Given the description of an element on the screen output the (x, y) to click on. 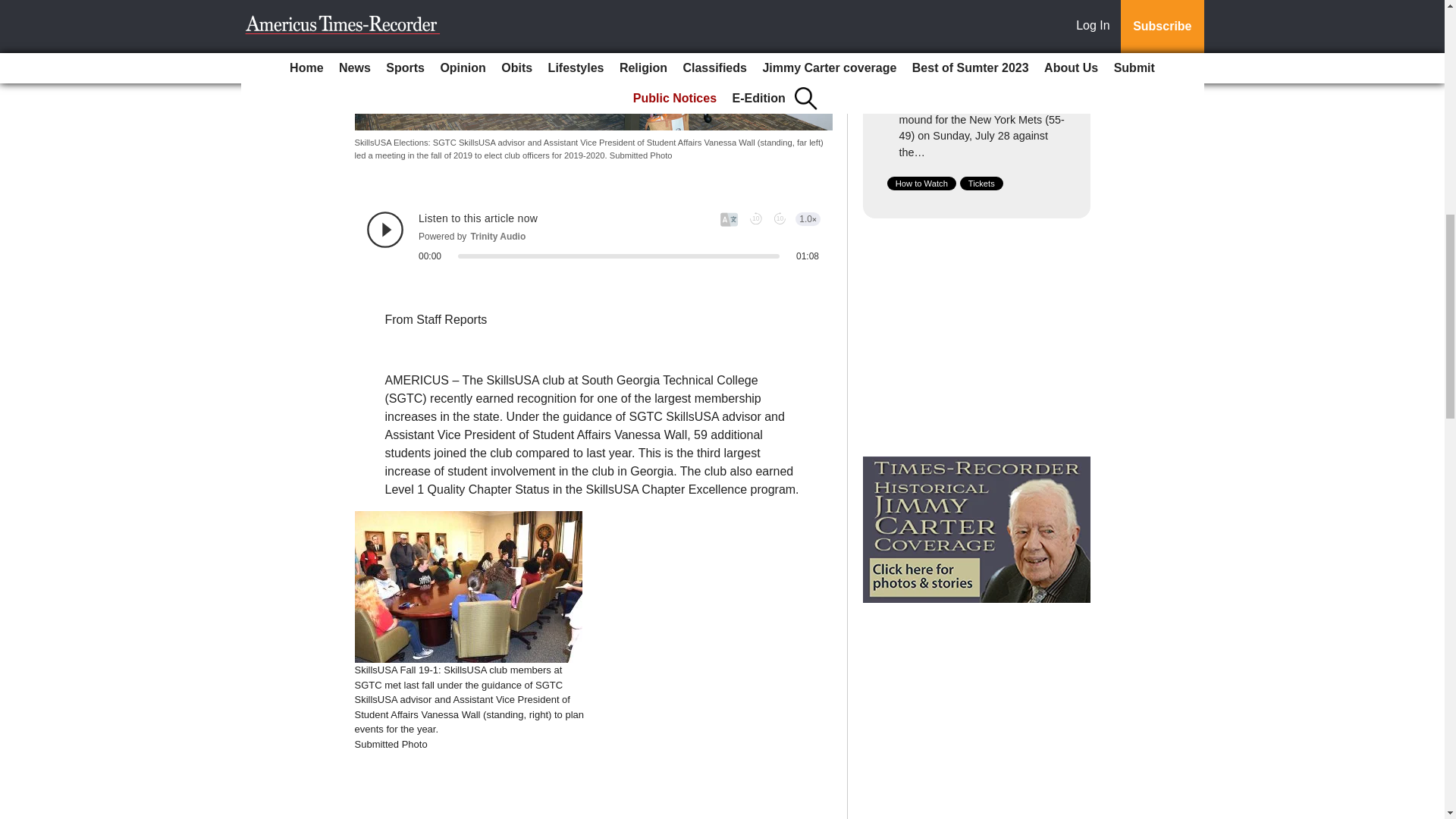
How to Watch (921, 183)
Braves vs. Mets: Betting Preview for July 28 (962, 75)
Tickets (981, 183)
Trinity Audio Player (592, 236)
